Given the description of an element on the screen output the (x, y) to click on. 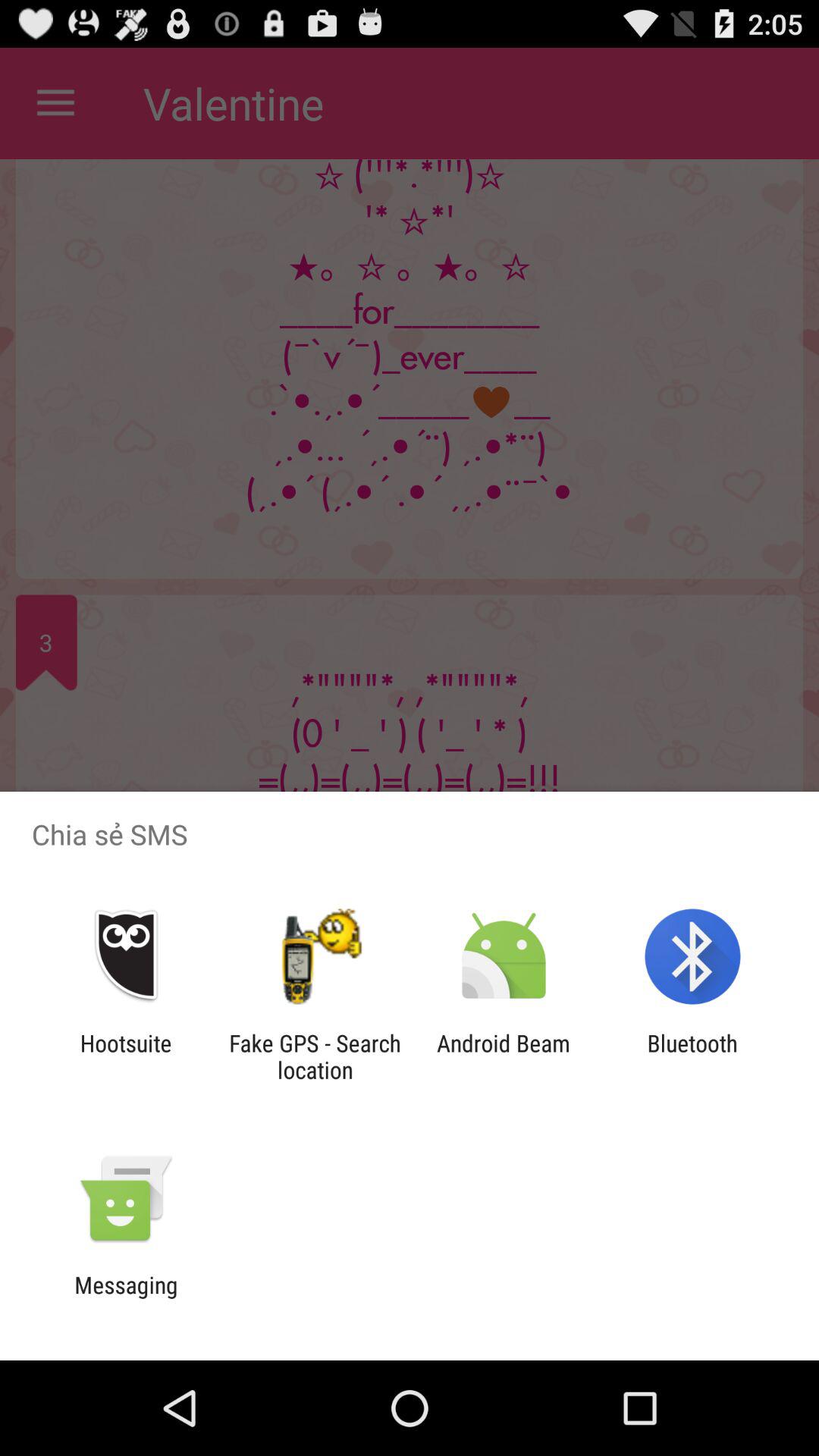
flip until the fake gps search (314, 1056)
